Given the description of an element on the screen output the (x, y) to click on. 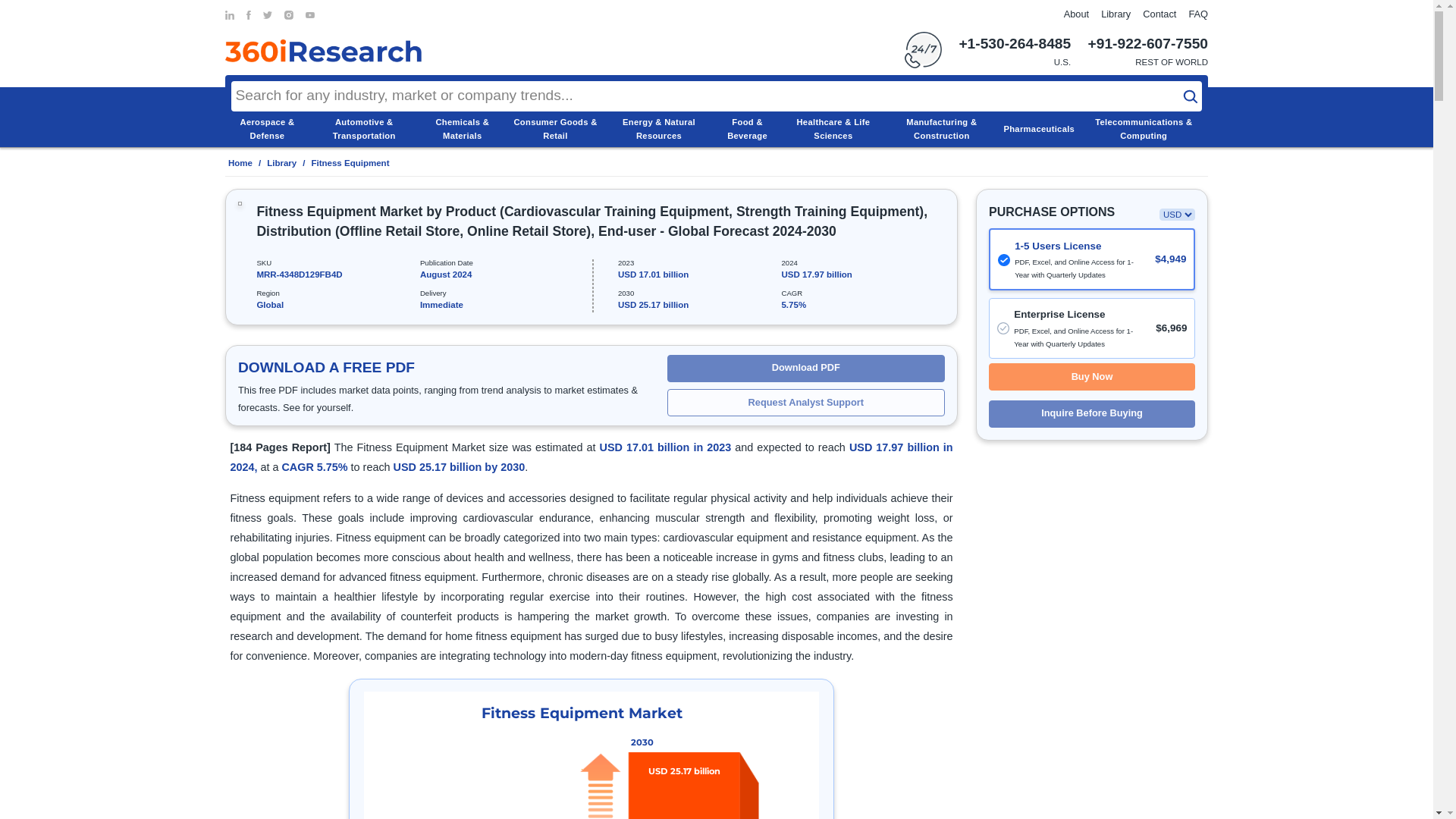
Pharmaceuticals (1038, 128)
Contact (1159, 13)
Library (1115, 13)
Inquire Before Buying (1091, 413)
Contact (1159, 13)
Request Analyst Support (805, 402)
Library (281, 162)
About (1076, 13)
Library (1115, 13)
360iResearch 24-7 (923, 49)
